Given the description of an element on the screen output the (x, y) to click on. 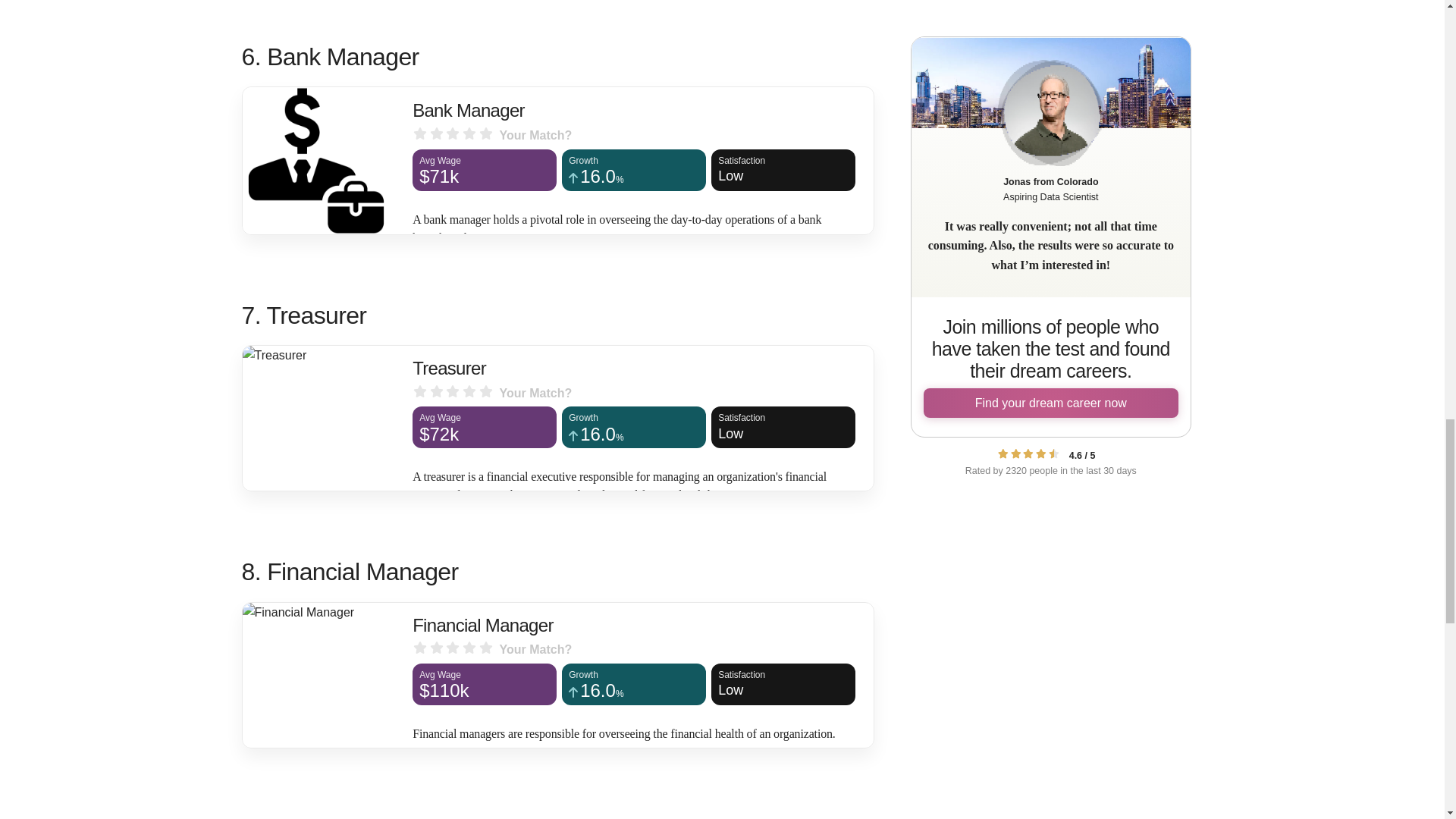
15.972747918243755 (783, 169)
15.972747918243755 (633, 435)
15.972747918243755 (633, 691)
